Given the description of an element on the screen output the (x, y) to click on. 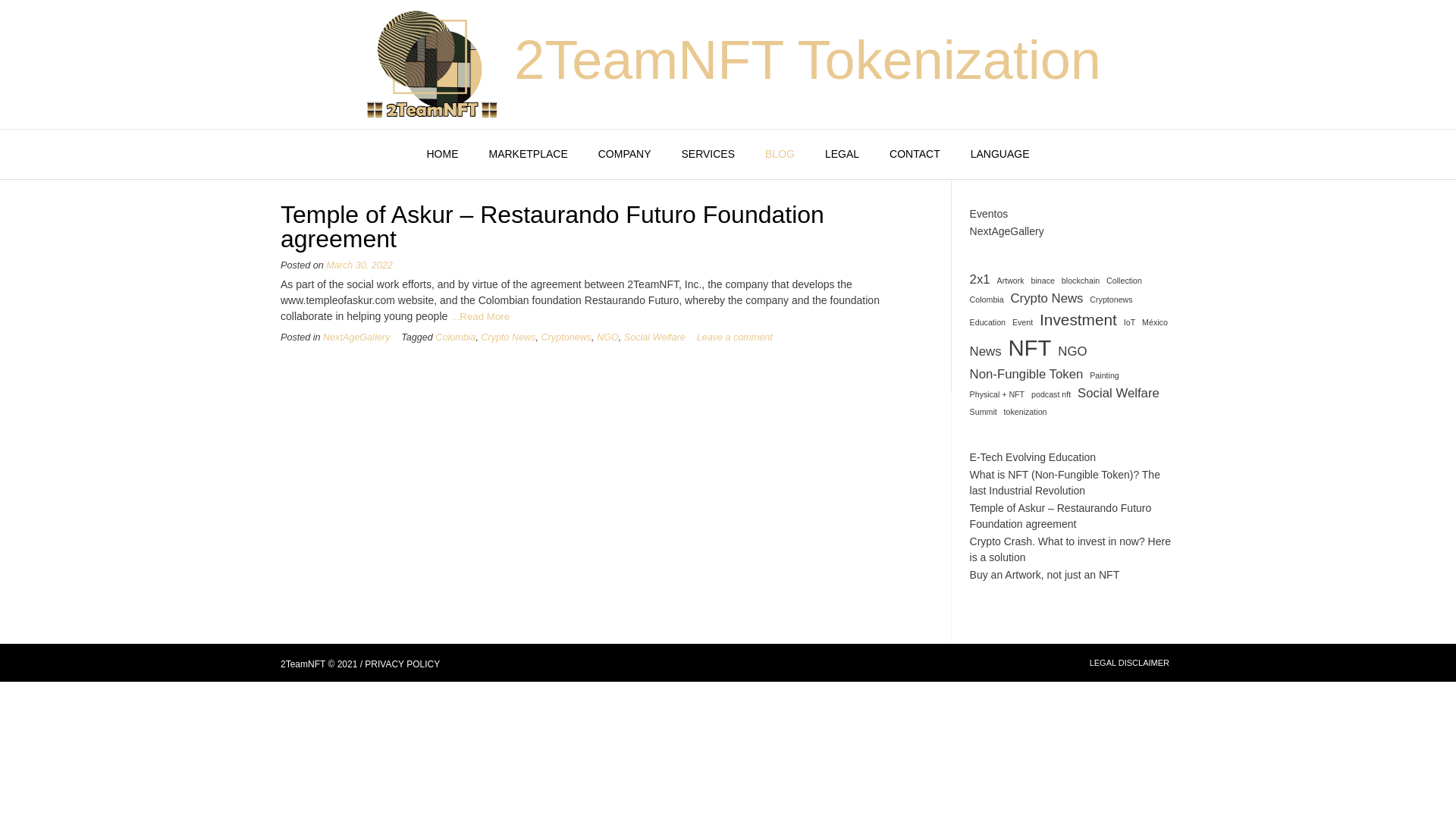
2x1 Element type: text (979, 278)
binace Element type: text (1042, 280)
COMPANY Element type: text (624, 154)
NextAgeGallery Element type: text (1006, 231)
Physical + NFT Element type: text (997, 394)
Colombia Element type: text (986, 299)
News Element type: text (985, 351)
SERVICES Element type: text (707, 154)
Artwork Element type: text (1010, 280)
tokenization Element type: text (1025, 411)
podcast nft Element type: text (1050, 394)
2TeamNFT Tokenization Element type: text (807, 59)
Painting Element type: text (1104, 375)
LANGUAGE Element type: text (999, 154)
Non-Fungible Token Element type: text (1026, 373)
Cryptonews Element type: text (1110, 299)
Buy an Artwork, not just an NFT Element type: text (1044, 574)
Colombia Element type: text (455, 337)
Social Welfare Element type: text (654, 337)
Crypto Crash. What to invest in now? Here is a solution Element type: text (1069, 549)
HOME Element type: text (442, 154)
March 30, 2022 Element type: text (359, 265)
Leave a comment Element type: text (734, 337)
LEGAL DISCLAIMER Element type: text (1129, 662)
Crypto News Element type: text (1046, 297)
Collection Element type: text (1124, 280)
Crypto News Element type: text (507, 337)
NextAgeGallery Element type: text (356, 337)
Event Element type: text (1022, 322)
LEGAL Element type: text (841, 154)
blockchain Element type: text (1080, 280)
NFT Element type: text (1029, 347)
E-Tech Evolving Education Element type: text (1032, 457)
Investment Element type: text (1078, 319)
BLOG Element type: text (779, 154)
Summit Element type: text (983, 411)
Education Element type: text (987, 322)
CONTACT Element type: text (914, 154)
...Read More Element type: text (480, 316)
MARKETPLACE Element type: text (527, 154)
Cryptonews Element type: text (566, 337)
IoT Element type: text (1129, 322)
Eventos Element type: text (988, 213)
2TeamNFT Tokenization Element type: hover (430, 64)
Social Welfare Element type: text (1118, 392)
NGO Element type: text (607, 337)
NGO Element type: text (1071, 351)
